Given the description of an element on the screen output the (x, y) to click on. 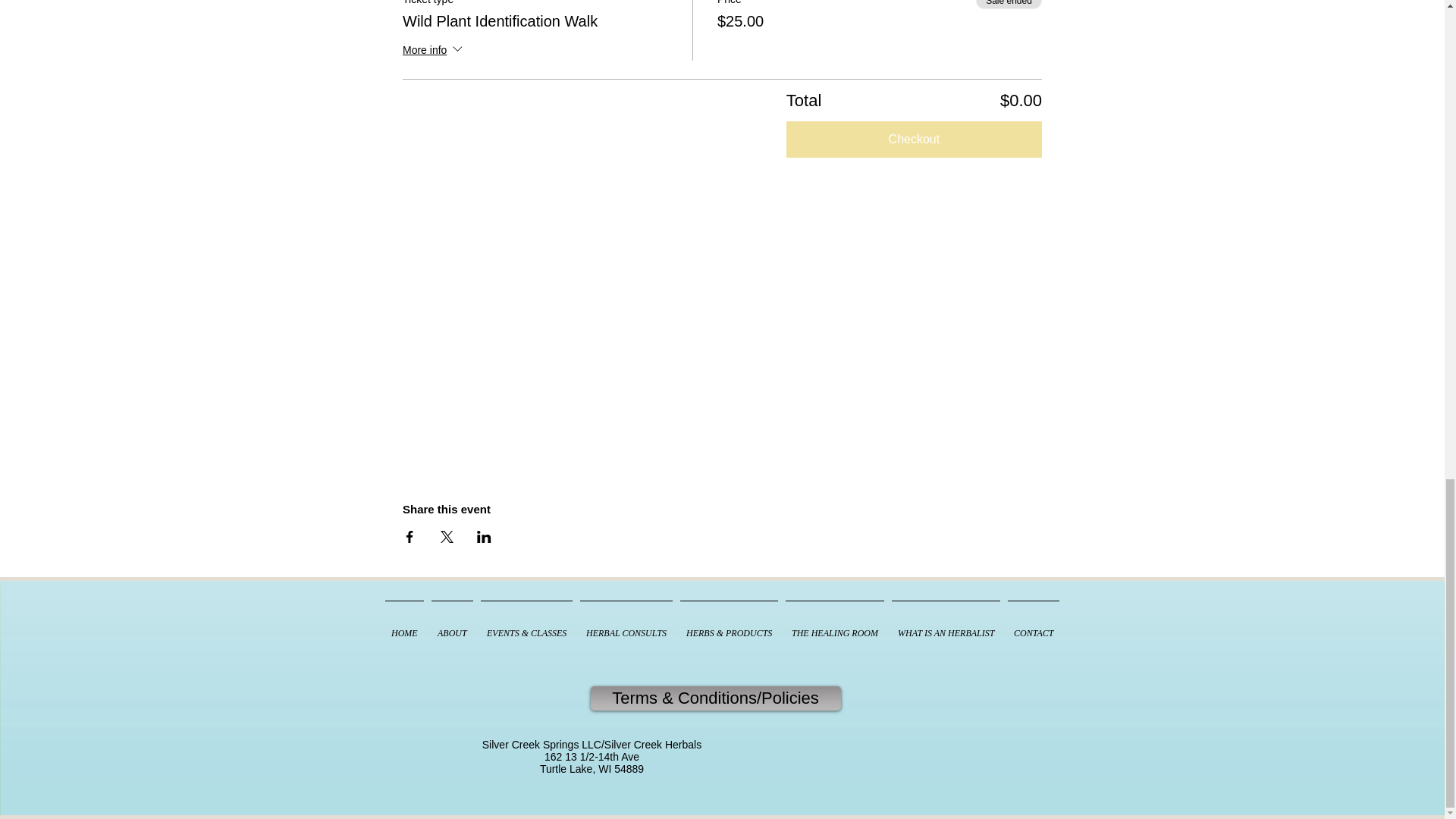
HOME (404, 625)
Checkout (914, 139)
THE HEALING ROOM (834, 625)
More info (434, 50)
WHAT IS AN HERBALIST (946, 625)
ABOUT (452, 625)
HERBAL CONSULTS (626, 625)
CONTACT (1033, 625)
